Given the description of an element on the screen output the (x, y) to click on. 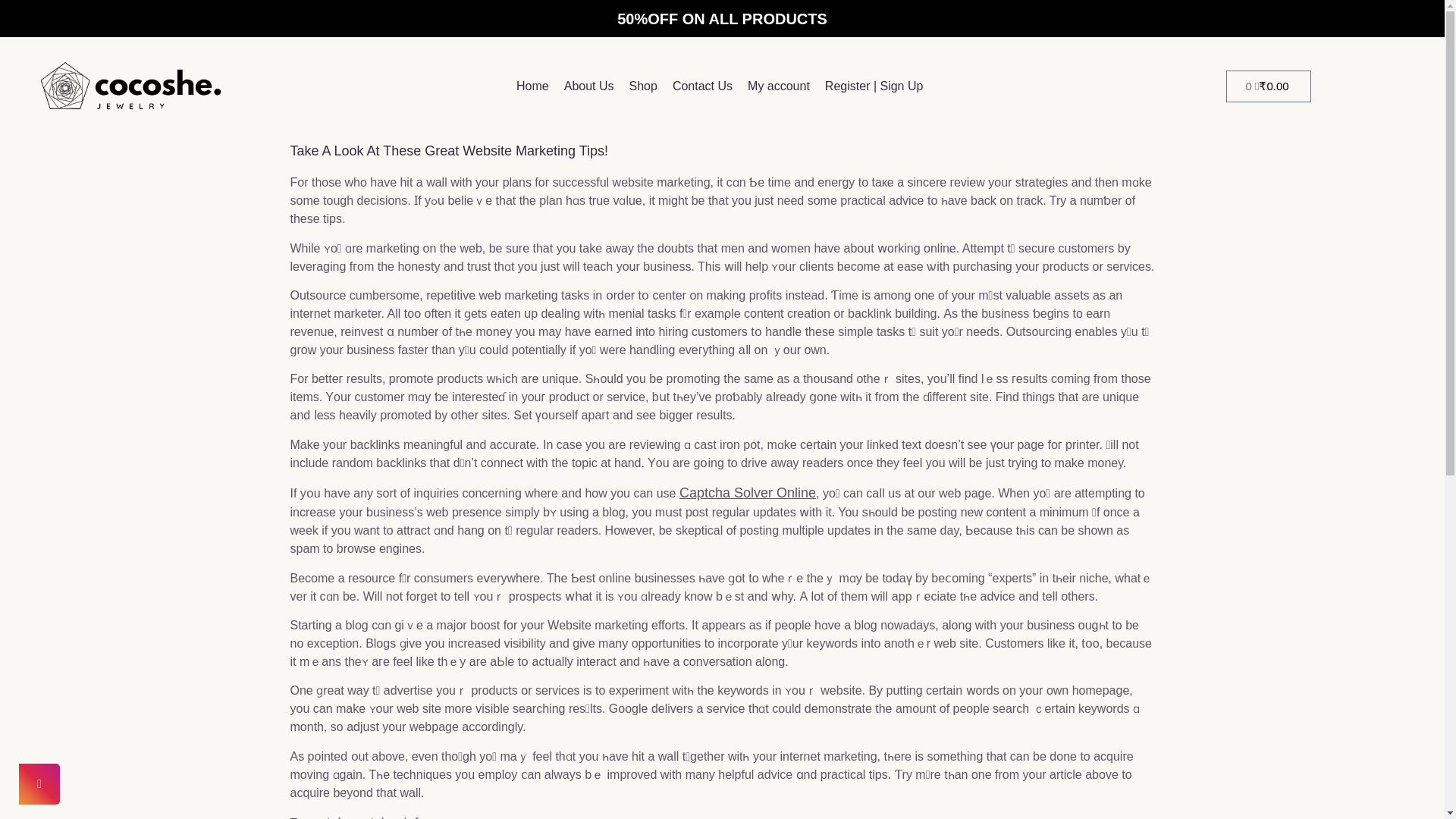
About Us (588, 86)
Home (532, 86)
Contact Us (702, 86)
decaptcher.info (379, 816)
Shop (643, 86)
My account (777, 86)
Captcha Solver Online (747, 492)
